Given the description of an element on the screen output the (x, y) to click on. 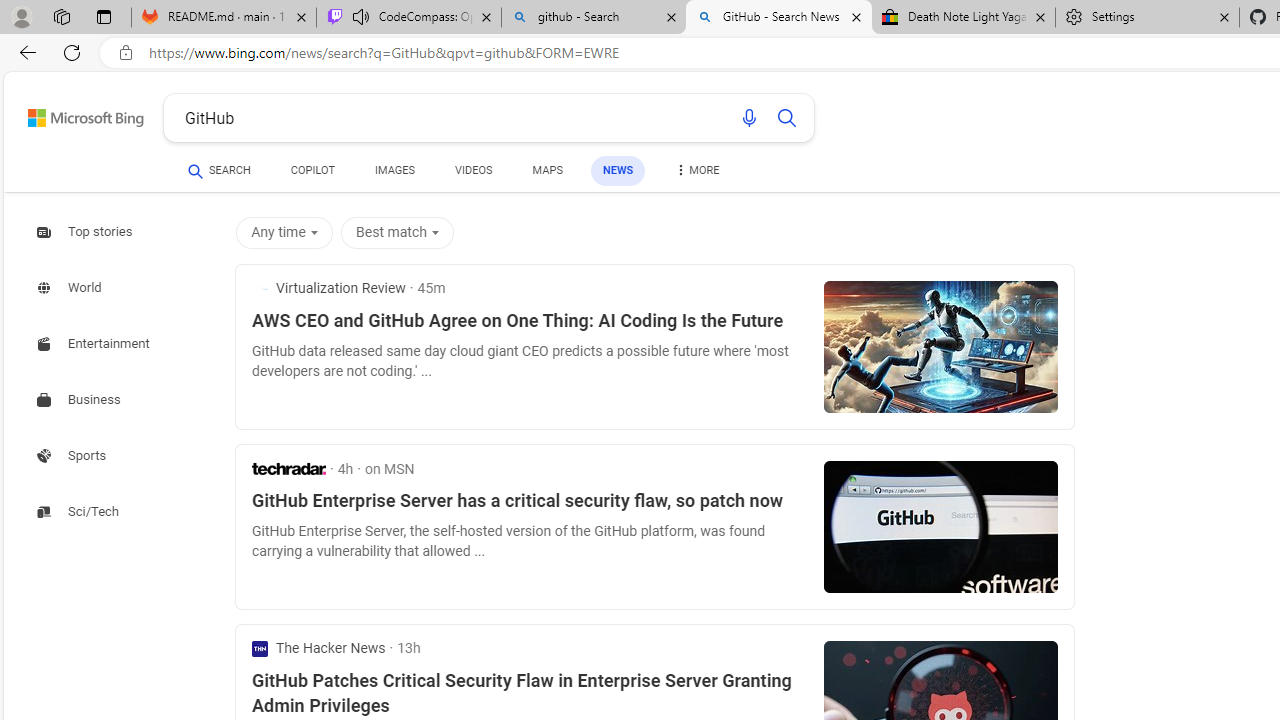
MORE (696, 173)
Search news about Sci/Tech (80, 511)
Search news about World (71, 288)
COPILOT (311, 170)
Back to Bing search (73, 113)
MAPS (546, 170)
Any time (283, 232)
Search button (786, 117)
SEARCH (219, 170)
Search news about Sports (73, 455)
